Given the description of an element on the screen output the (x, y) to click on. 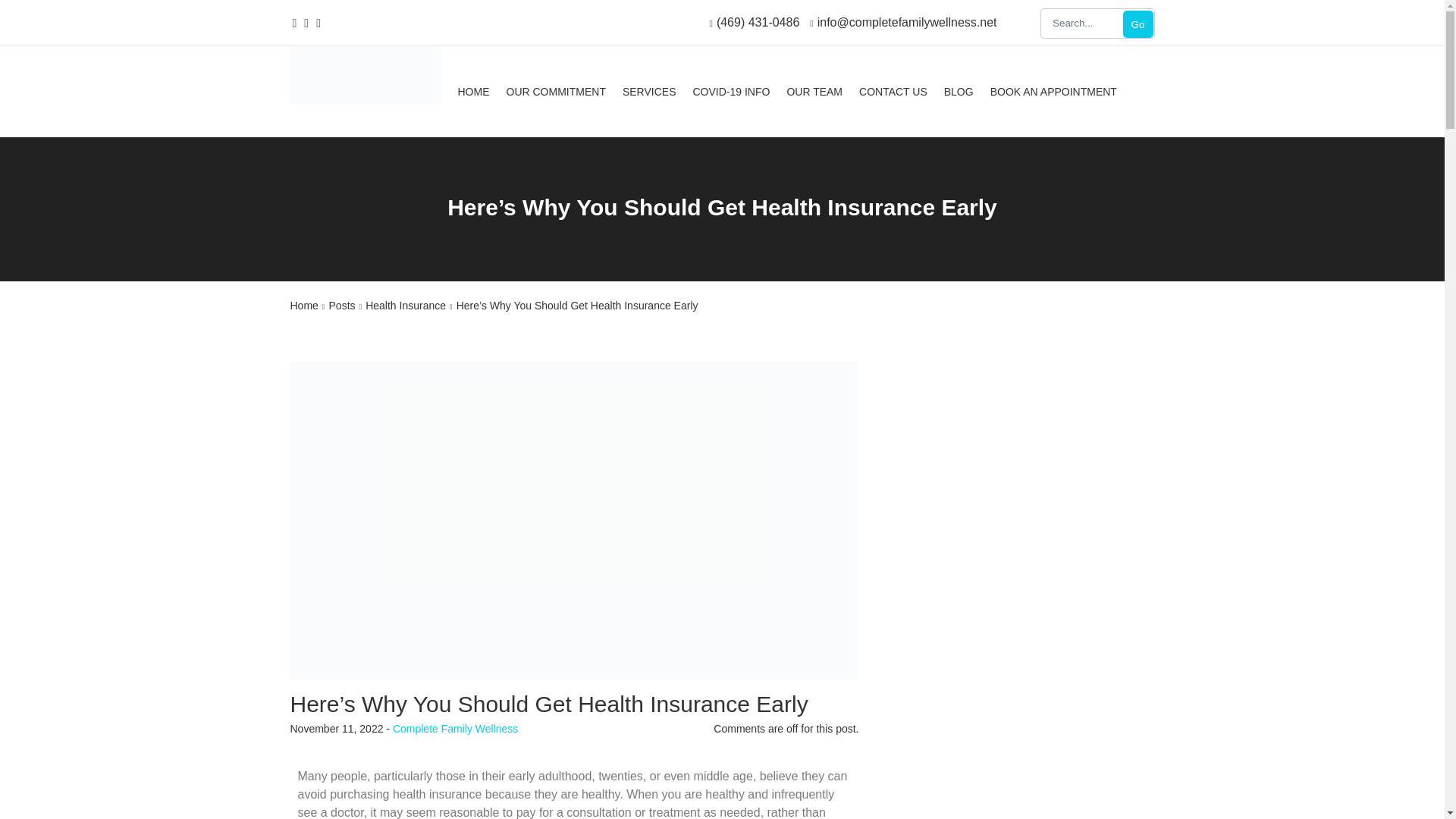
Health Insurance (405, 305)
Go (1137, 23)
BOOK AN APPOINTMENT (1053, 93)
Home (303, 305)
Complete Family Wellness (455, 728)
Twitter (303, 21)
Instagram (316, 21)
OUR TEAM (814, 93)
OUR COMMITMENT (555, 93)
Posts (342, 305)
SERVICES (649, 93)
BLOG (958, 93)
HOME (473, 93)
CONTACT US (893, 93)
Facebook (291, 21)
